Given the description of an element on the screen output the (x, y) to click on. 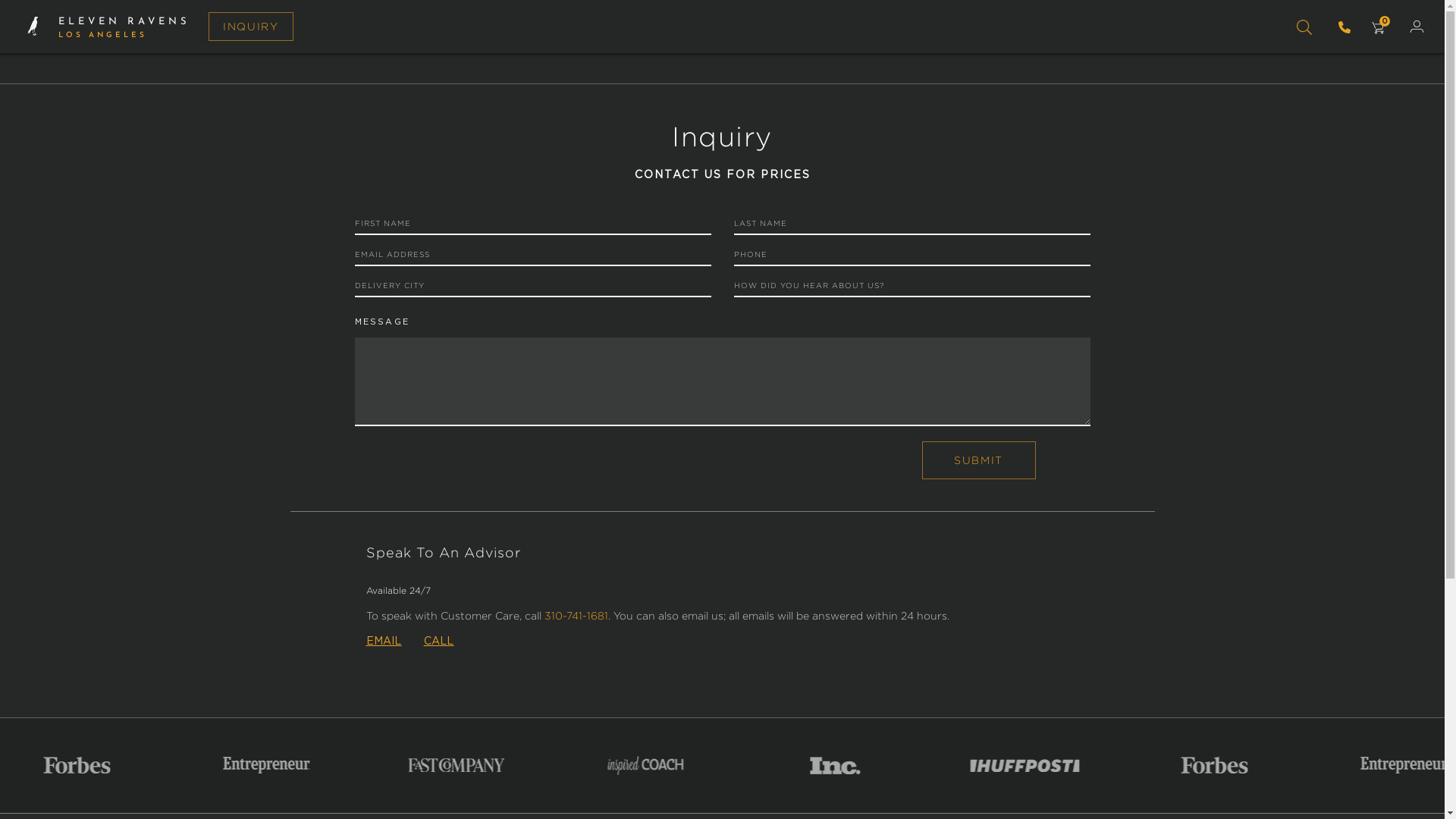
CALL Element type: text (438, 641)
ELEVEN RAVENS Element type: text (124, 20)
Submit Element type: text (978, 460)
EMAIL Element type: text (383, 641)
CART CART
0 Element type: text (1377, 27)
INQUIRY Element type: text (250, 26)
310-741-1681 Element type: text (576, 615)
